Given the description of an element on the screen output the (x, y) to click on. 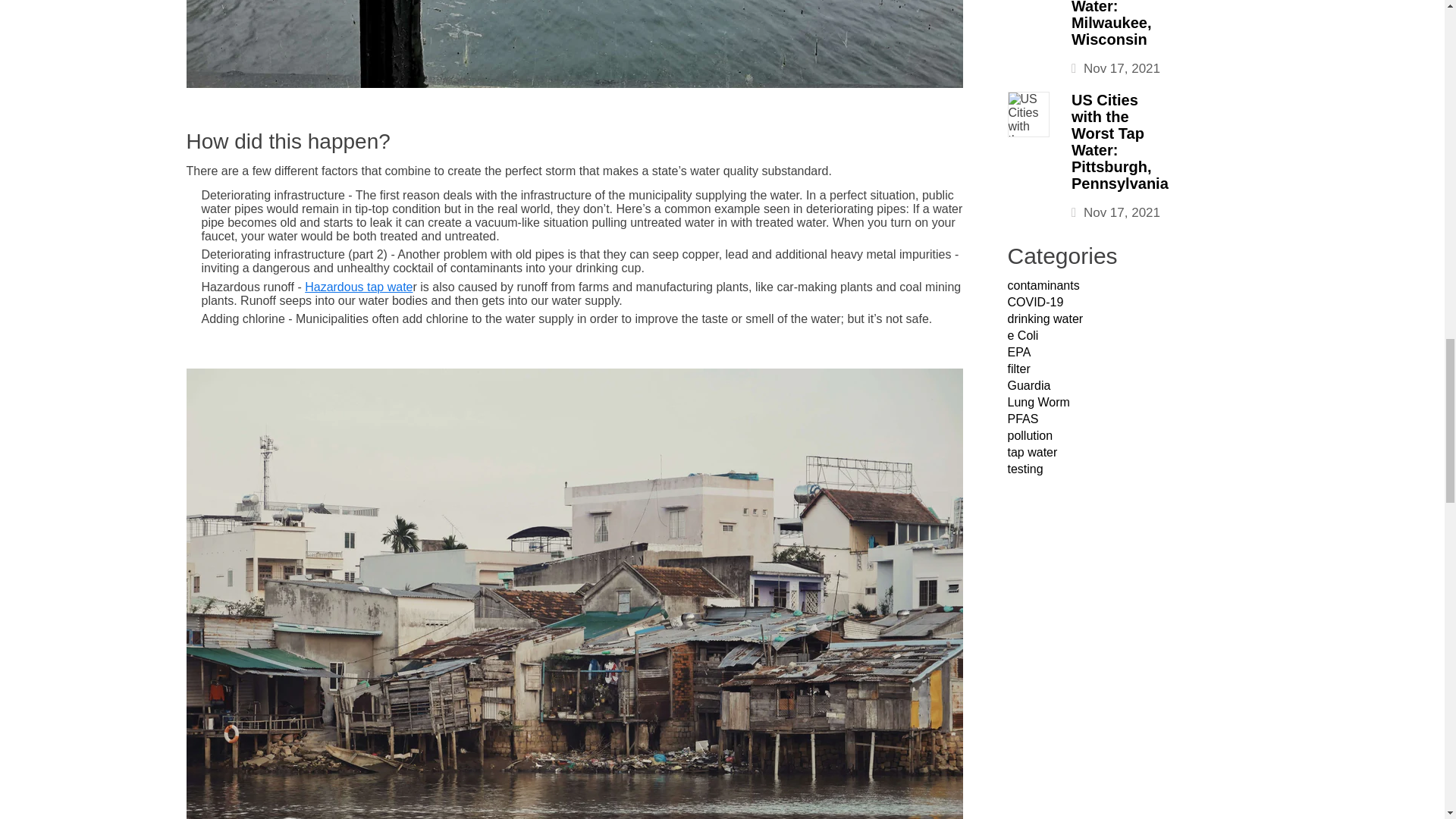
Show articles tagged COVID-19 (1034, 301)
Show articles tagged EPA (1018, 351)
Show articles tagged e Coli (1022, 335)
Show articles tagged contaminants (1042, 285)
Show articles tagged drinking water (1045, 318)
